Given the description of an element on the screen output the (x, y) to click on. 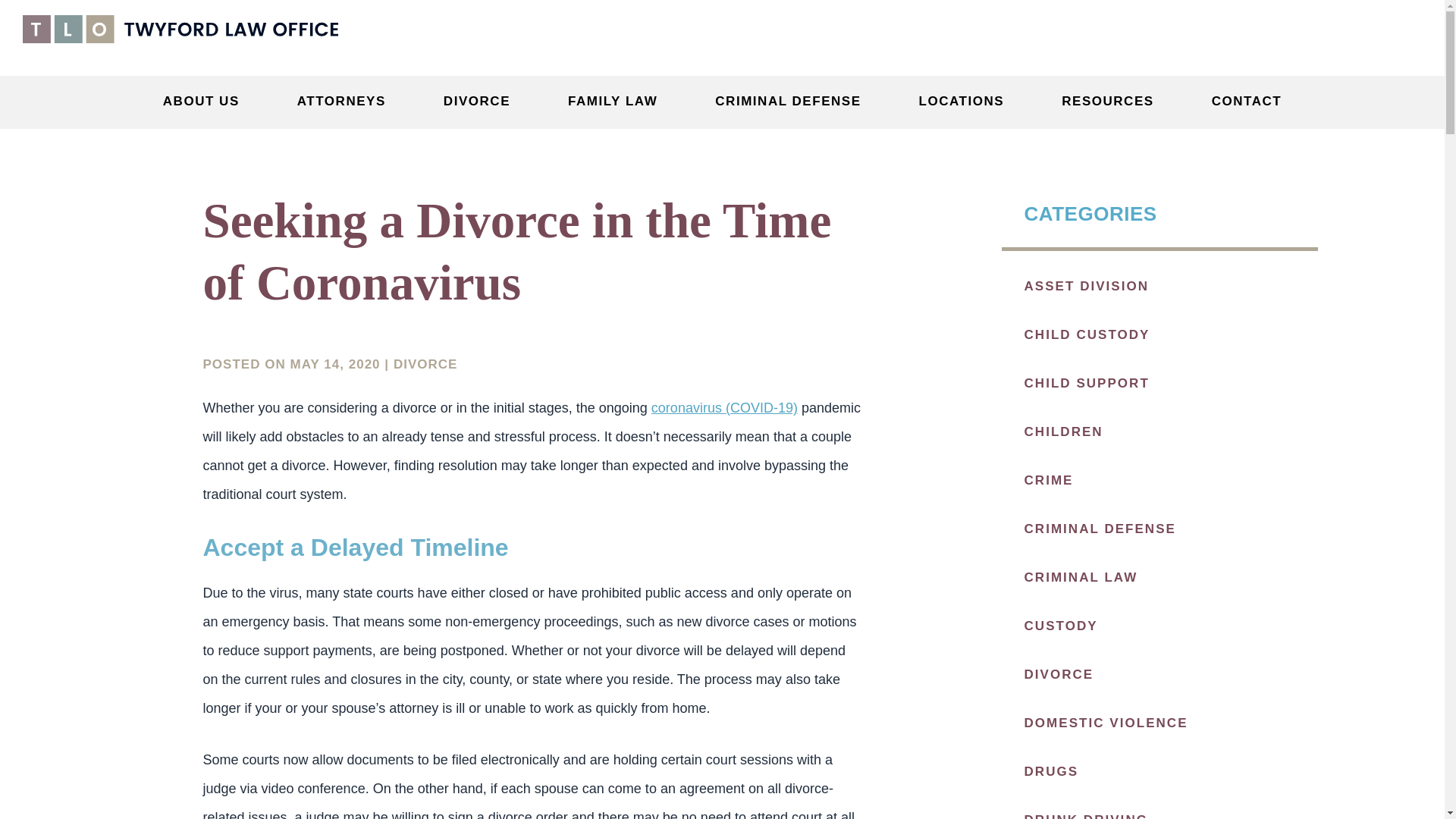
ATTORNEYS (345, 102)
FAMILY LAW (616, 102)
ABOUT US (205, 102)
CONTACT (1246, 102)
DIVORCE (481, 102)
CRIMINAL DEFENSE (790, 102)
RESOURCES (1110, 102)
LOCATIONS (964, 102)
